Given the description of an element on the screen output the (x, y) to click on. 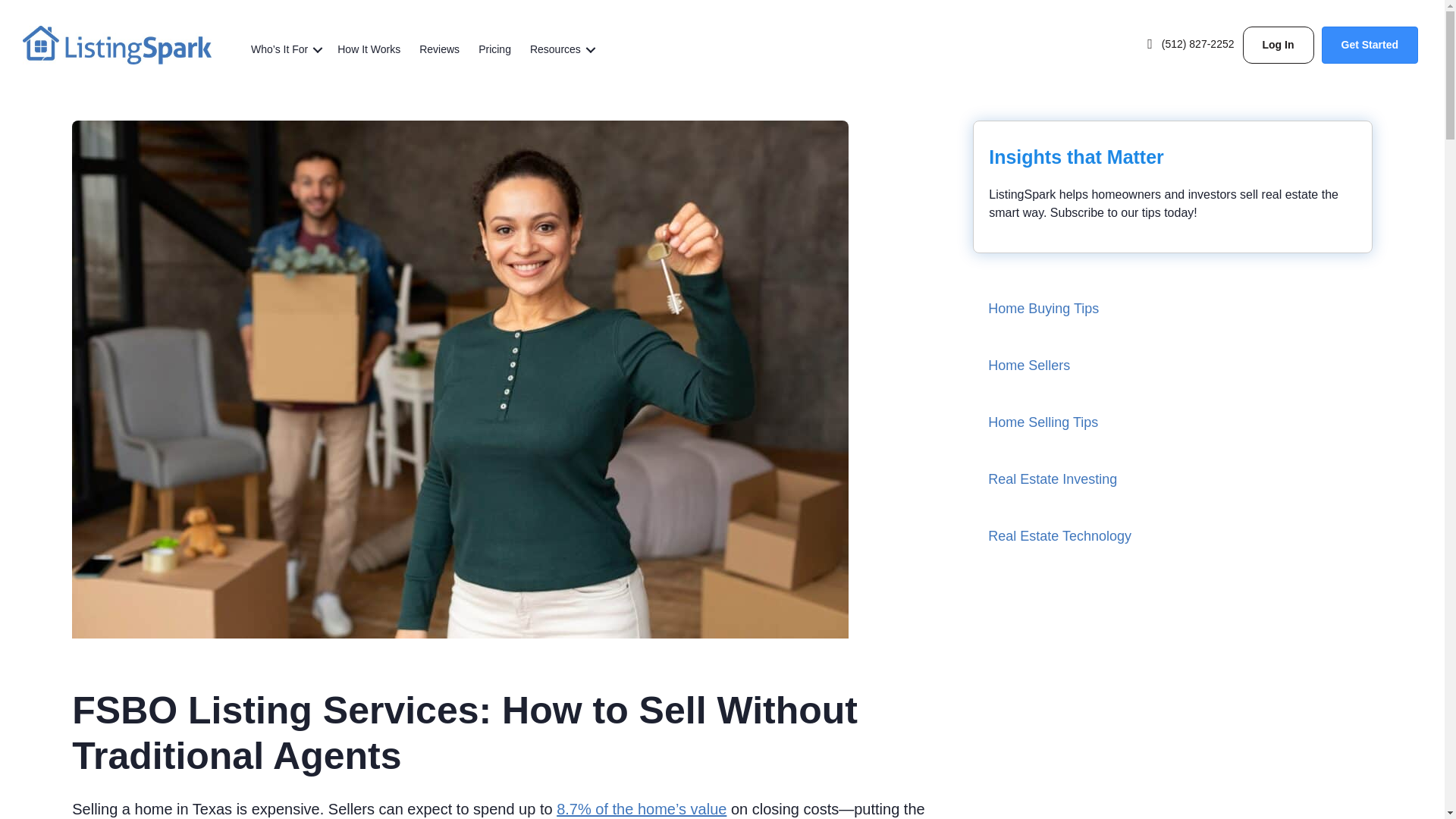
Log In (1278, 44)
Resources (560, 49)
How It Works (369, 49)
Pricing (493, 49)
Reviews (439, 49)
Get Started (1370, 44)
